Given the description of an element on the screen output the (x, y) to click on. 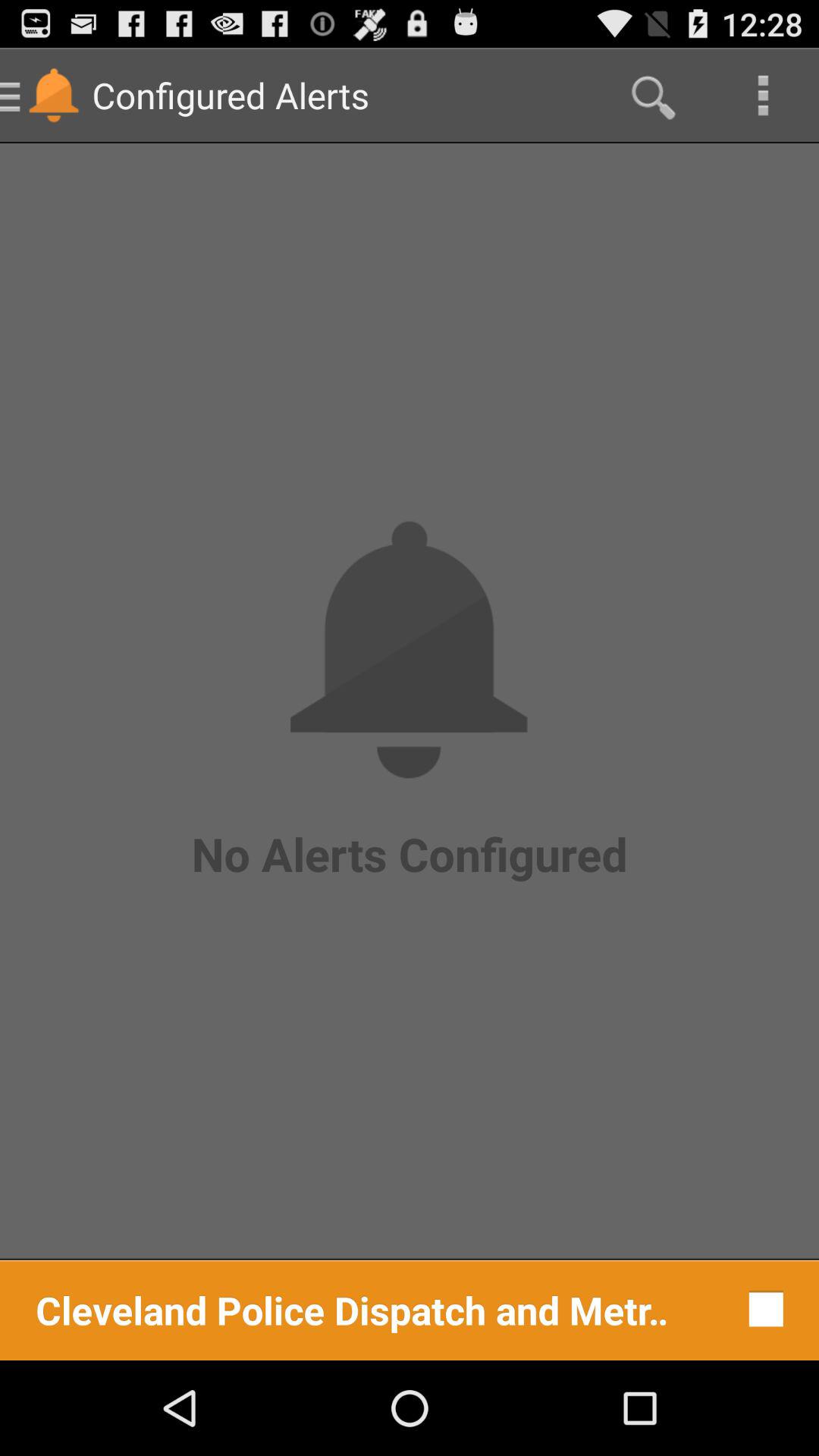
select icon at the bottom right corner (762, 1309)
